Given the description of an element on the screen output the (x, y) to click on. 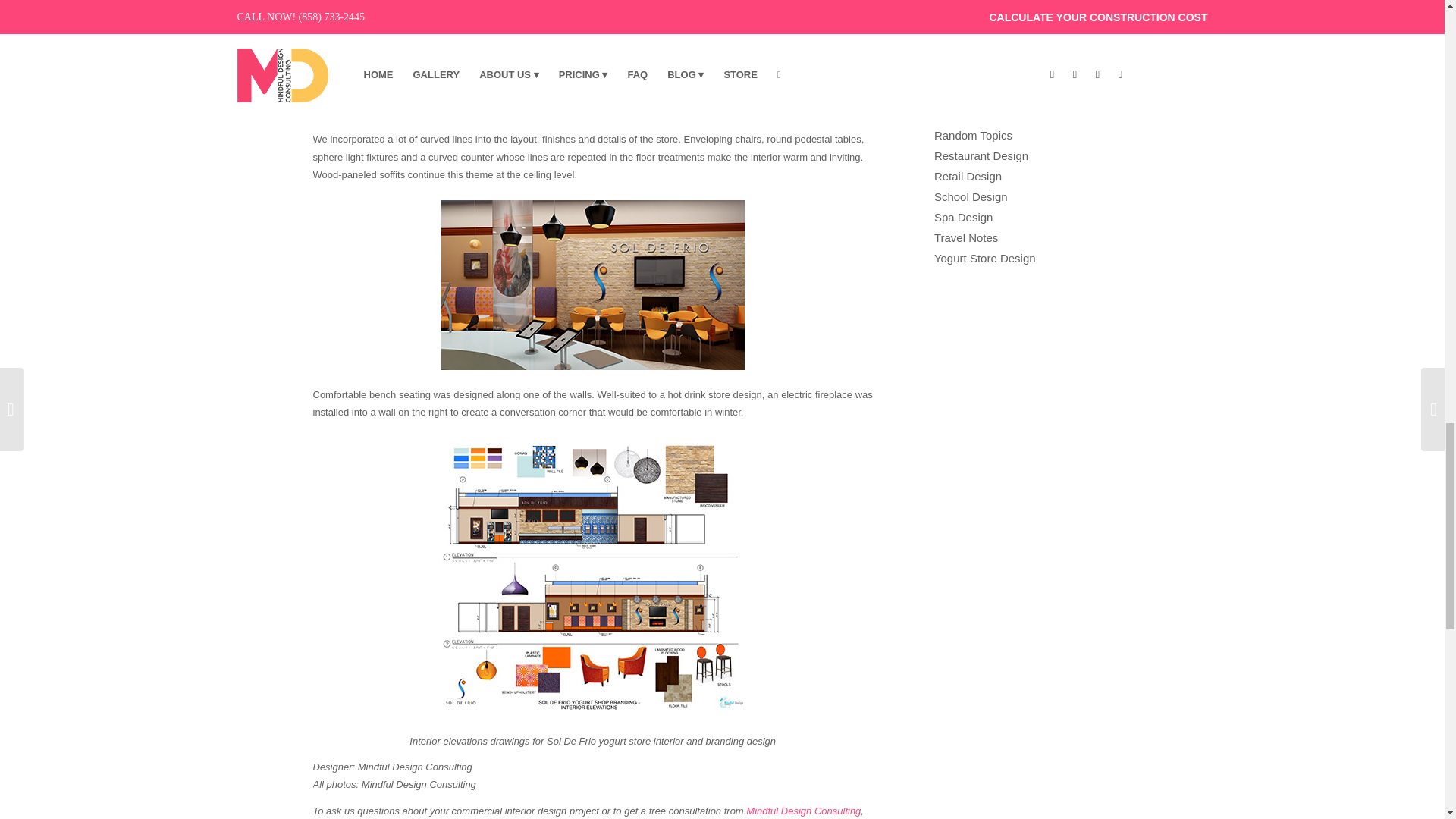
Price Request (802, 810)
Mindful Design Consulting (802, 810)
